Given the description of an element on the screen output the (x, y) to click on. 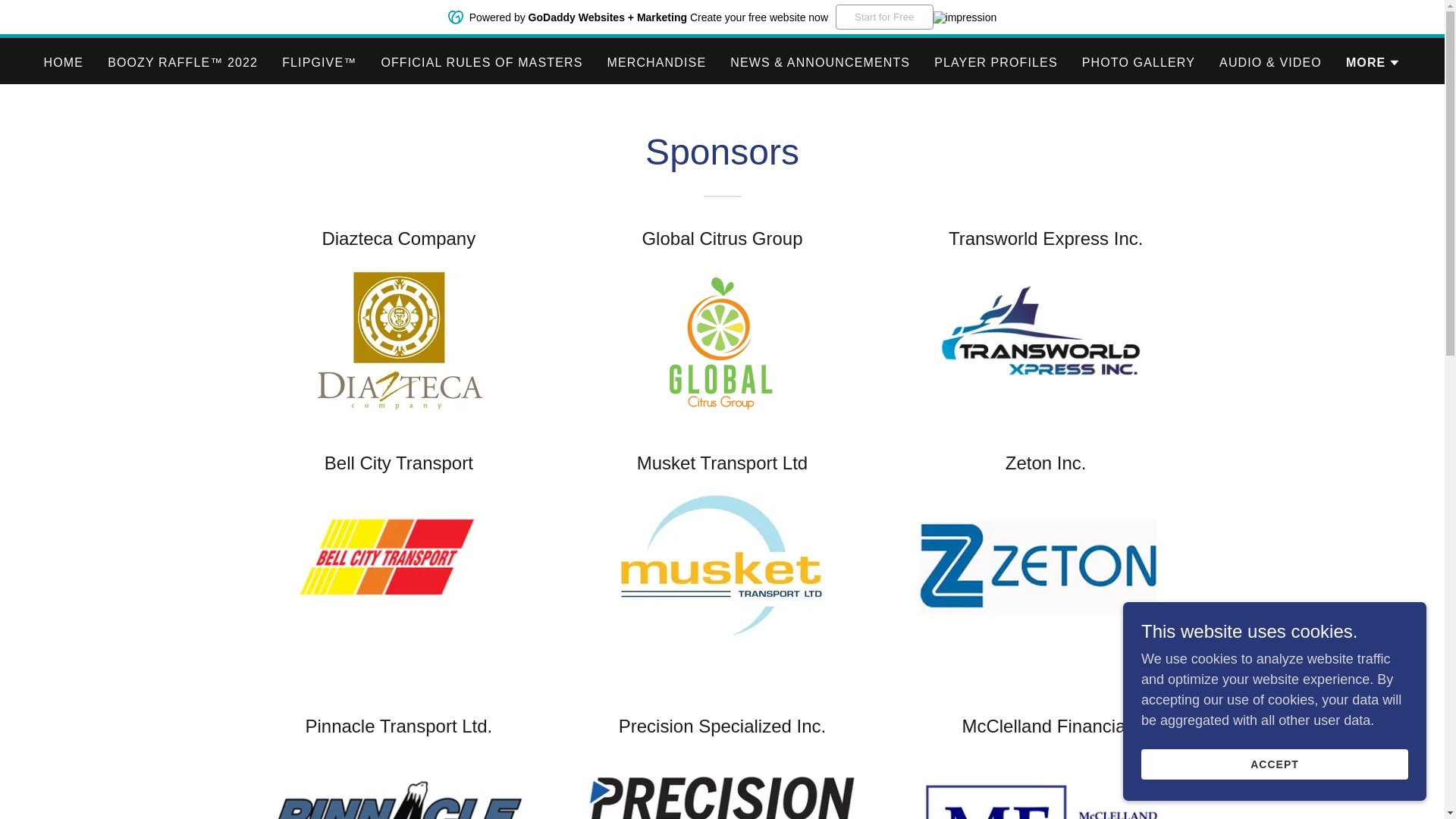
OFFICIAL RULES OF MASTERS (480, 62)
MERCHANDISE (656, 62)
MORE (1372, 63)
PHOTO GALLERY (1138, 62)
PLAYER PROFILES (996, 62)
HOME (63, 62)
